Given the description of an element on the screen output the (x, y) to click on. 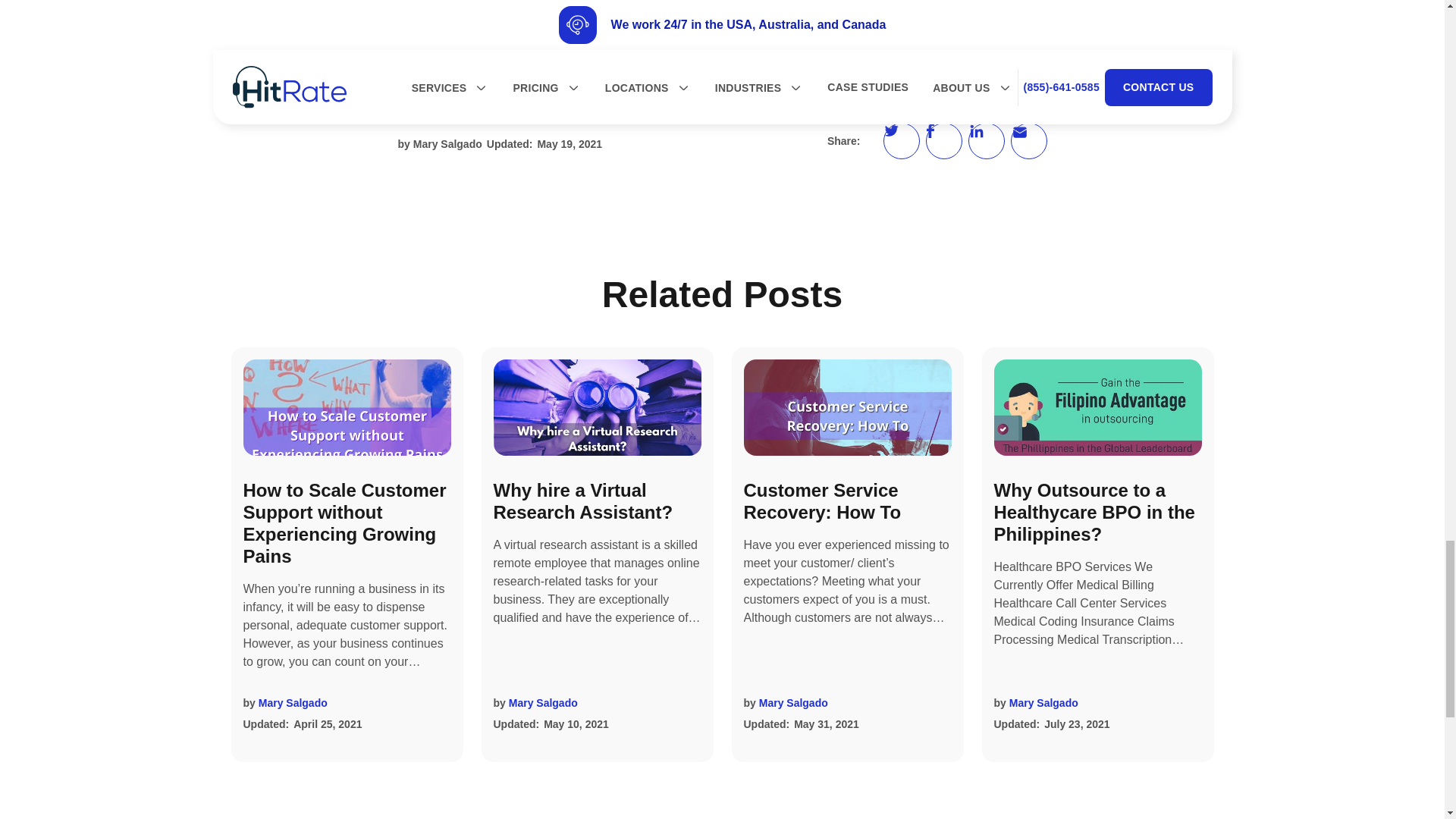
Share on LinkedIn (986, 140)
Email (1028, 140)
Tweet (900, 140)
Share on Facebook (942, 140)
